Given the description of an element on the screen output the (x, y) to click on. 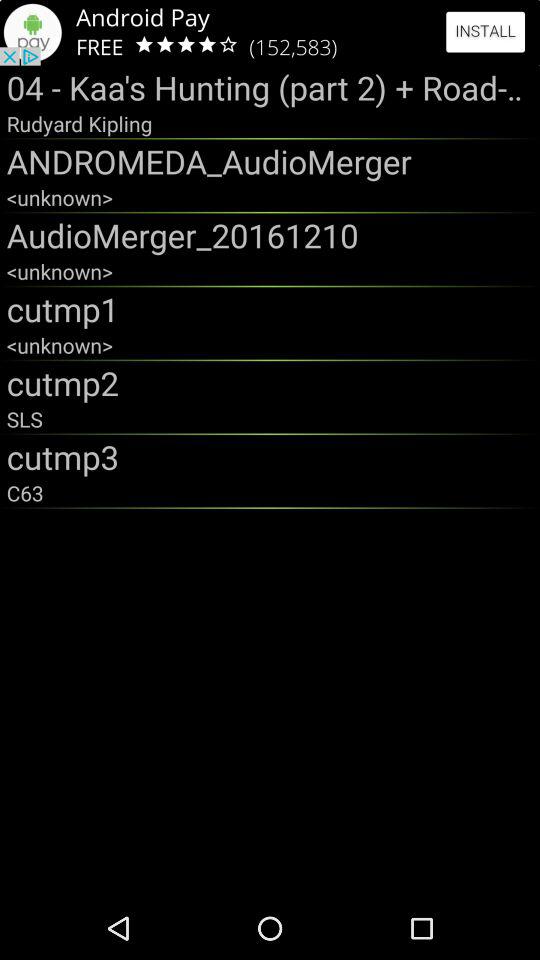
click advertisement (270, 32)
